Given the description of an element on the screen output the (x, y) to click on. 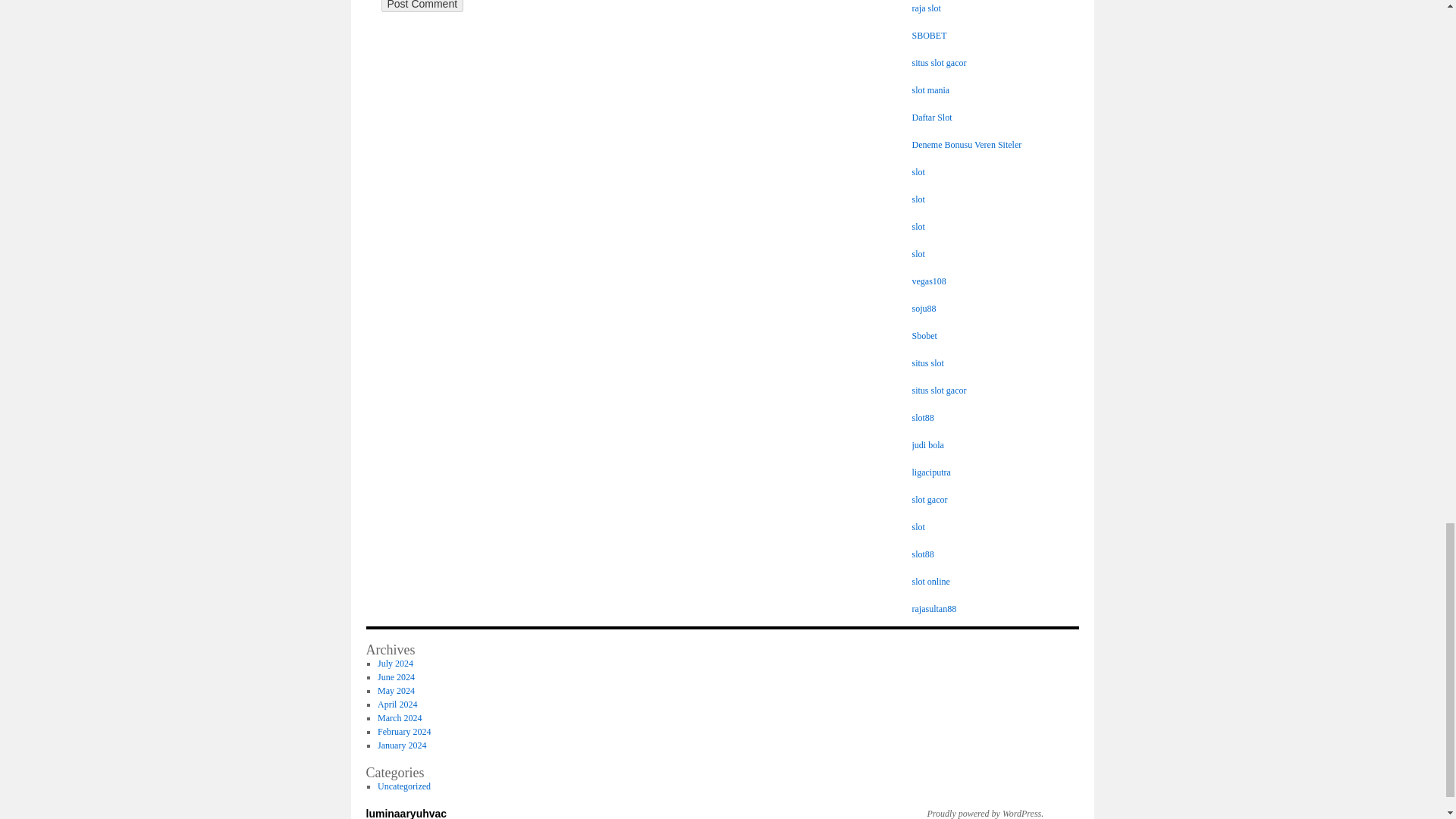
Post Comment (421, 6)
Post Comment (421, 6)
